Given the description of an element on the screen output the (x, y) to click on. 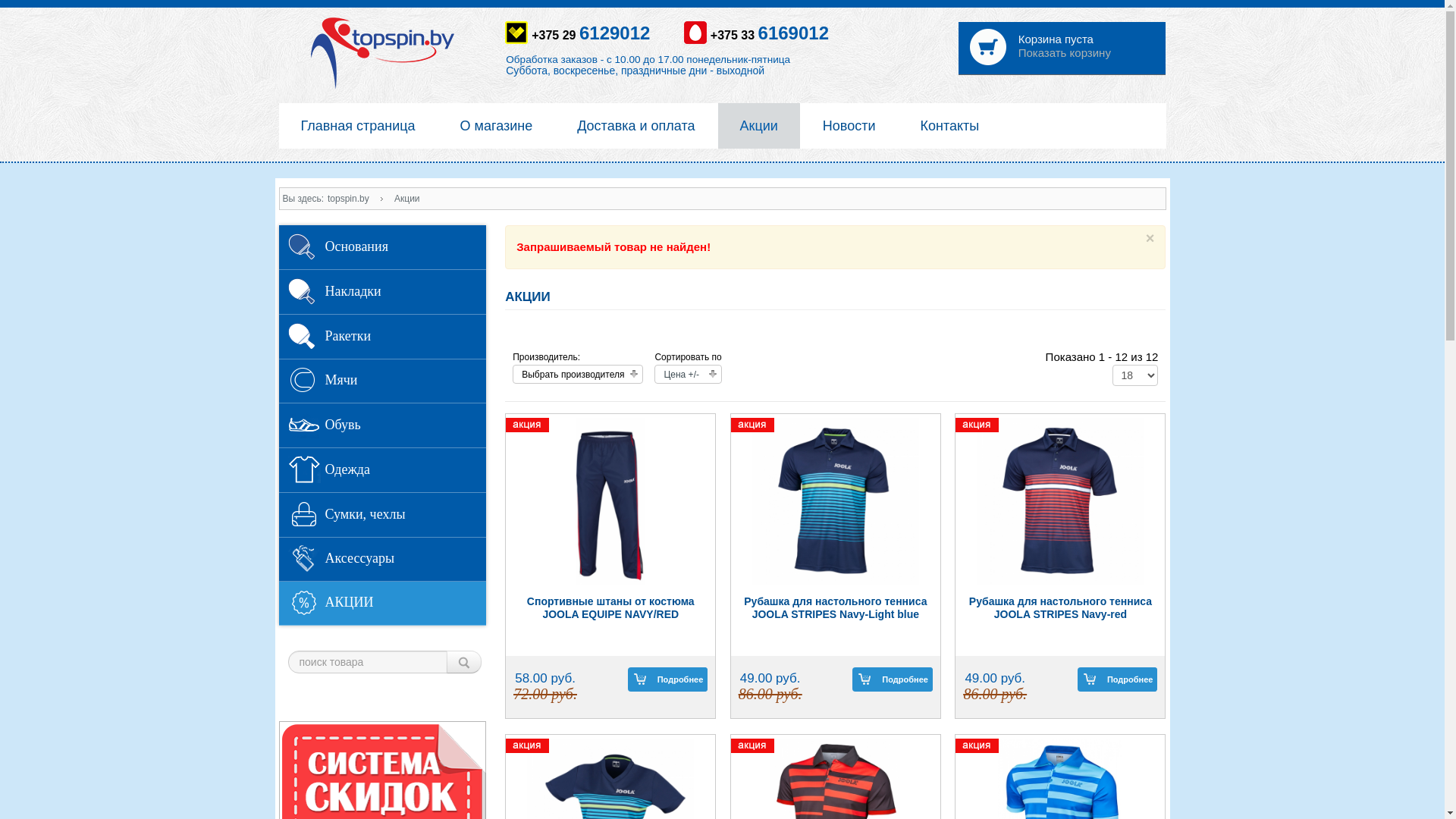
topspin.by Element type: text (348, 198)
